Given the description of an element on the screen output the (x, y) to click on. 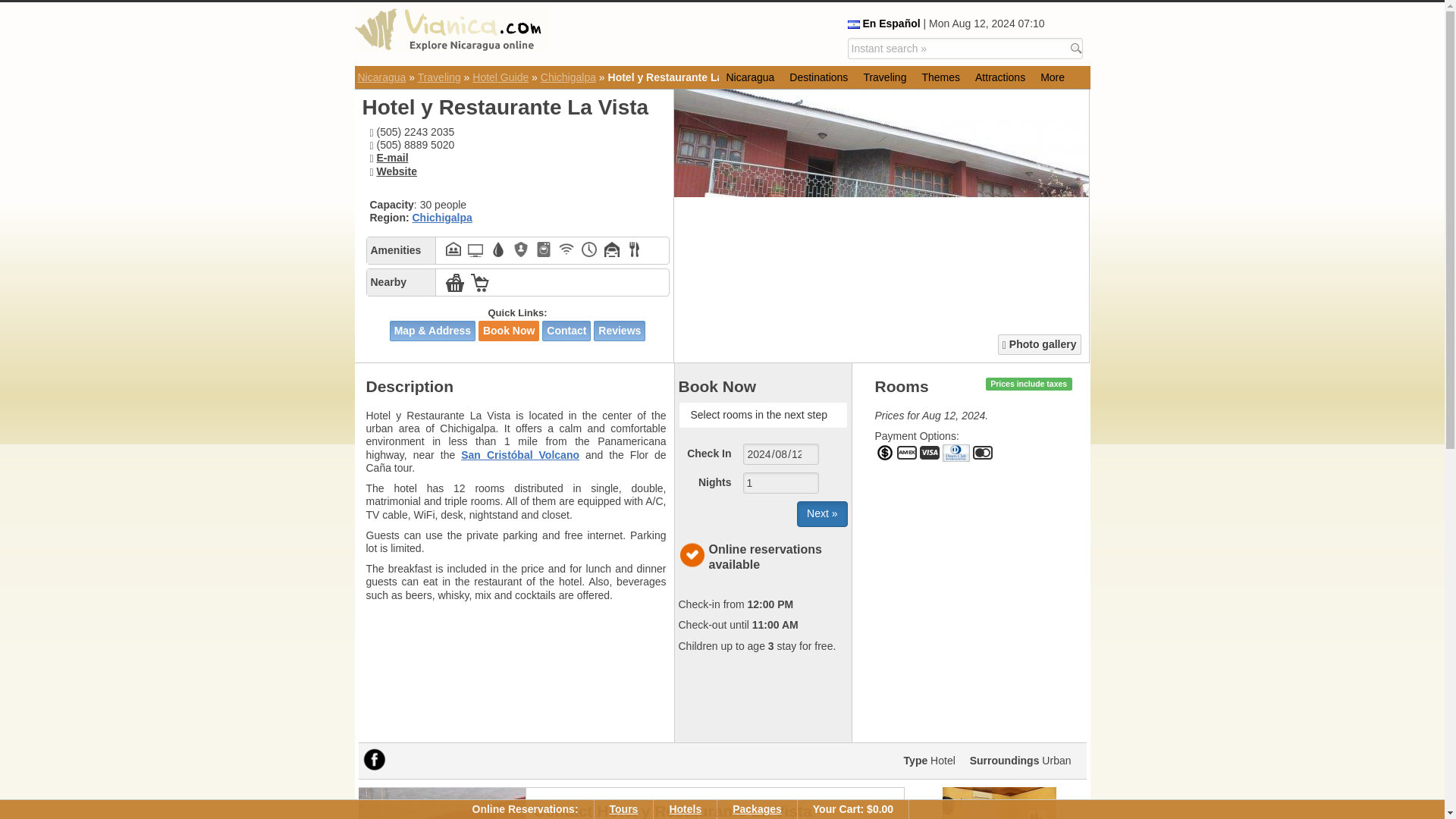
Diners Club (955, 452)
Cable TV (475, 249)
Conference Room (453, 249)
Private Parking (612, 249)
Visa (929, 452)
Water tank (497, 249)
American Express (906, 452)
Nicaragua (751, 77)
Security (520, 249)
Destinations (818, 77)
